Given the description of an element on the screen output the (x, y) to click on. 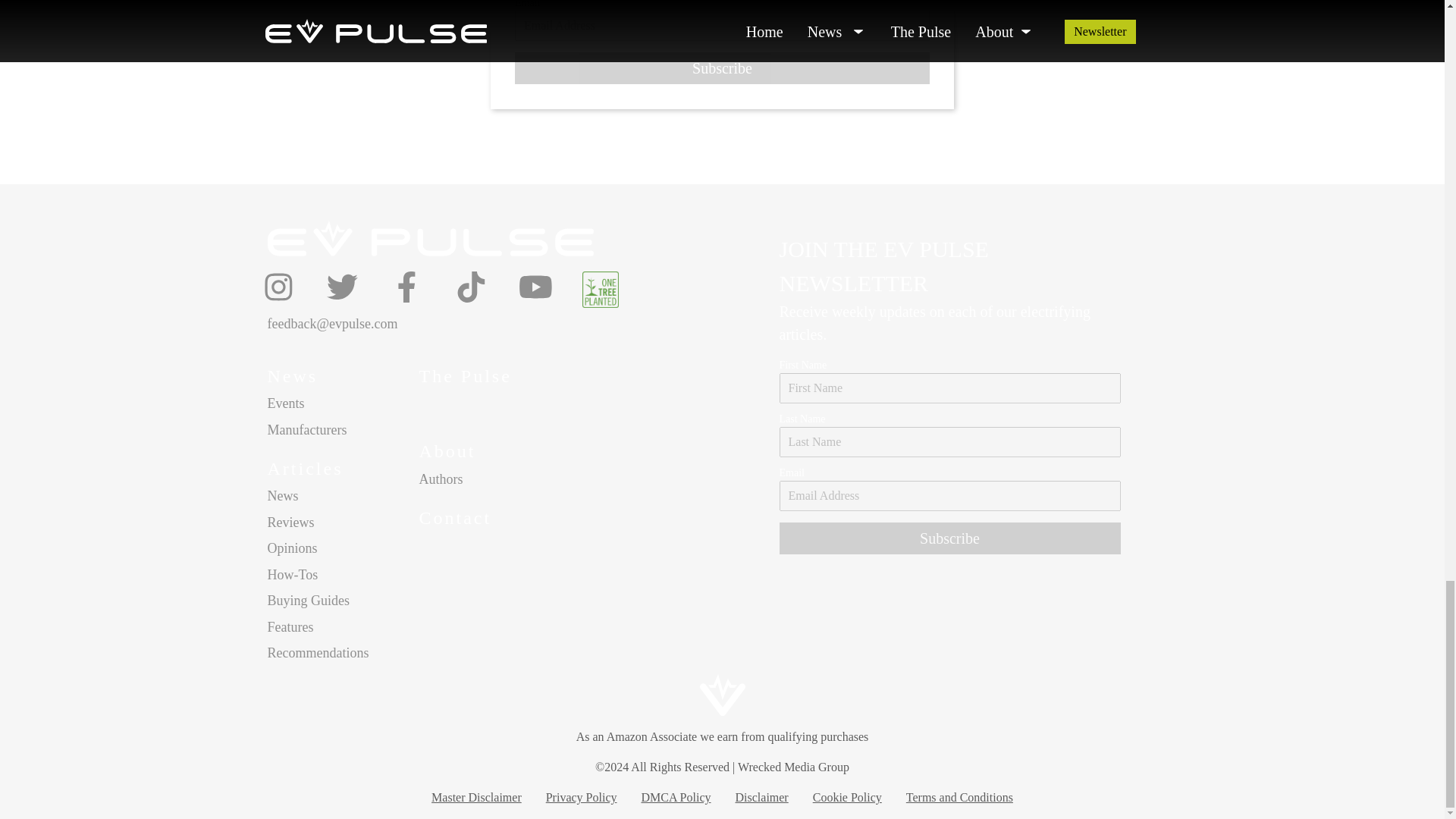
Subscribe (722, 68)
Subscribe (949, 538)
Subscribe (722, 68)
